Given the description of an element on the screen output the (x, y) to click on. 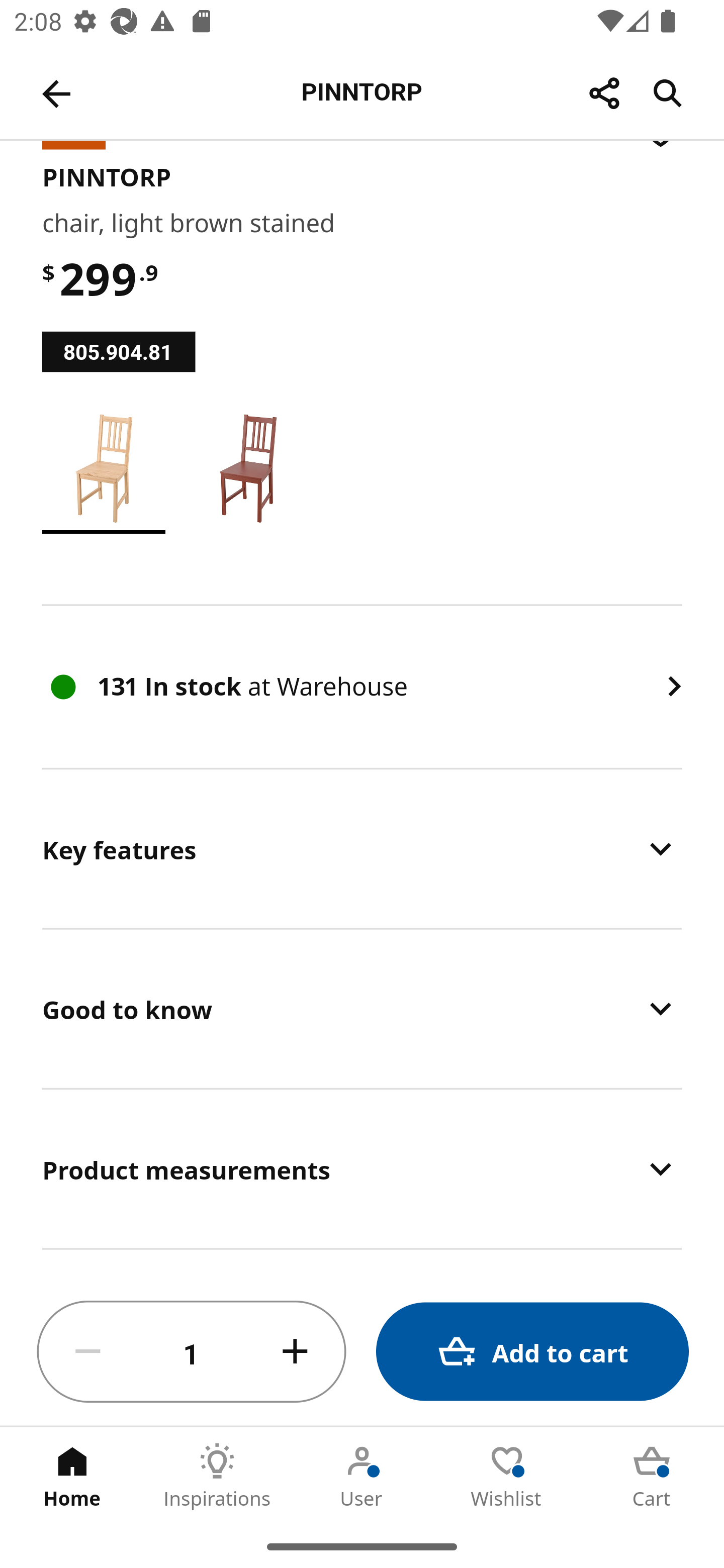
131 In stock at Warehouse (361, 687)
Key features (361, 848)
Good to know (361, 1008)
Product measurements (361, 1168)
Add to cart (531, 1352)
1 (191, 1352)
Home
Tab 1 of 5 (72, 1476)
Inspirations
Tab 2 of 5 (216, 1476)
User
Tab 3 of 5 (361, 1476)
Wishlist
Tab 4 of 5 (506, 1476)
Cart
Tab 5 of 5 (651, 1476)
